Given the description of an element on the screen output the (x, y) to click on. 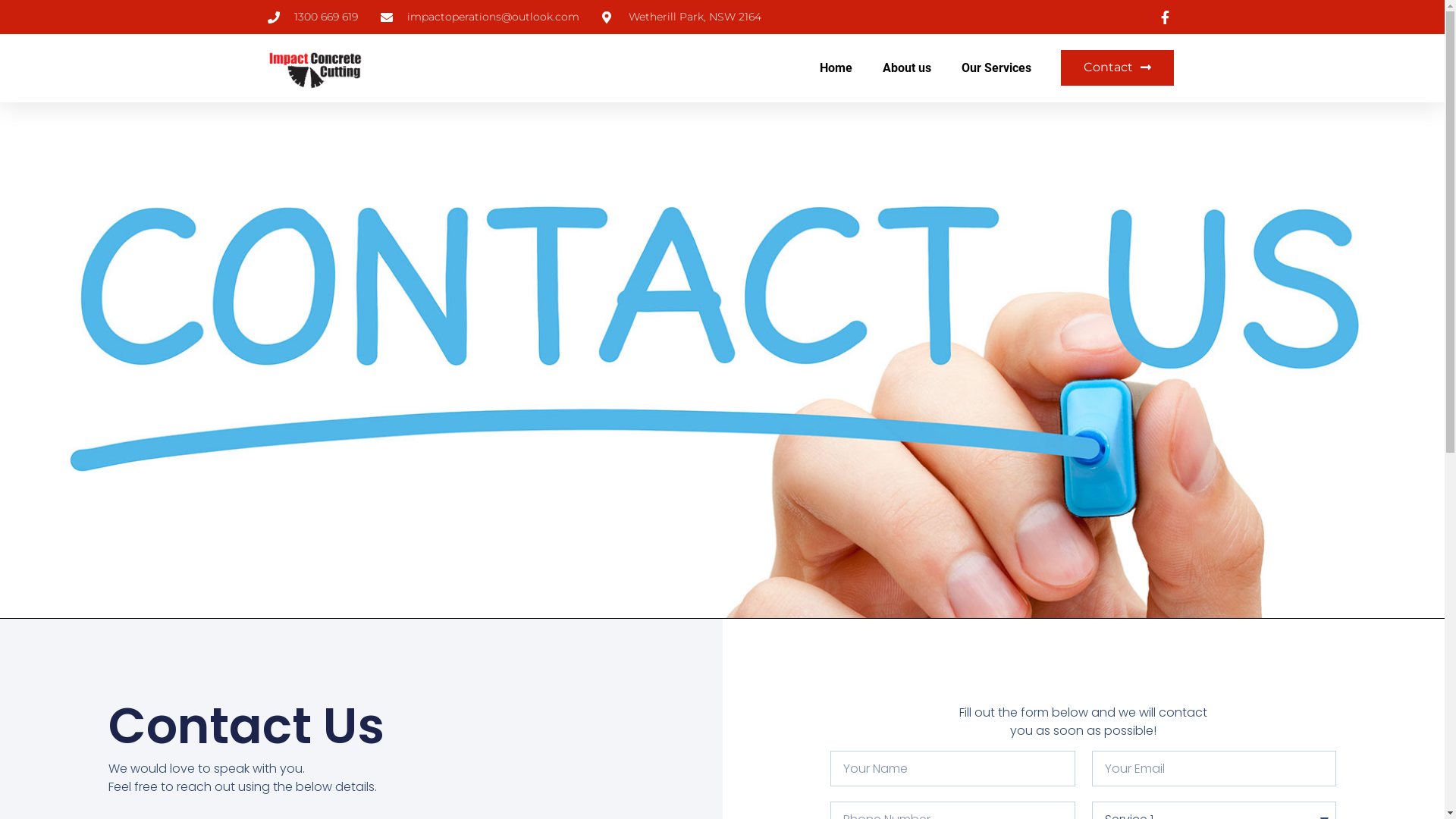
Our Services Element type: text (996, 67)
Contact Element type: text (1116, 67)
Home Element type: text (835, 67)
About us Element type: text (906, 67)
